Given the description of an element on the screen output the (x, y) to click on. 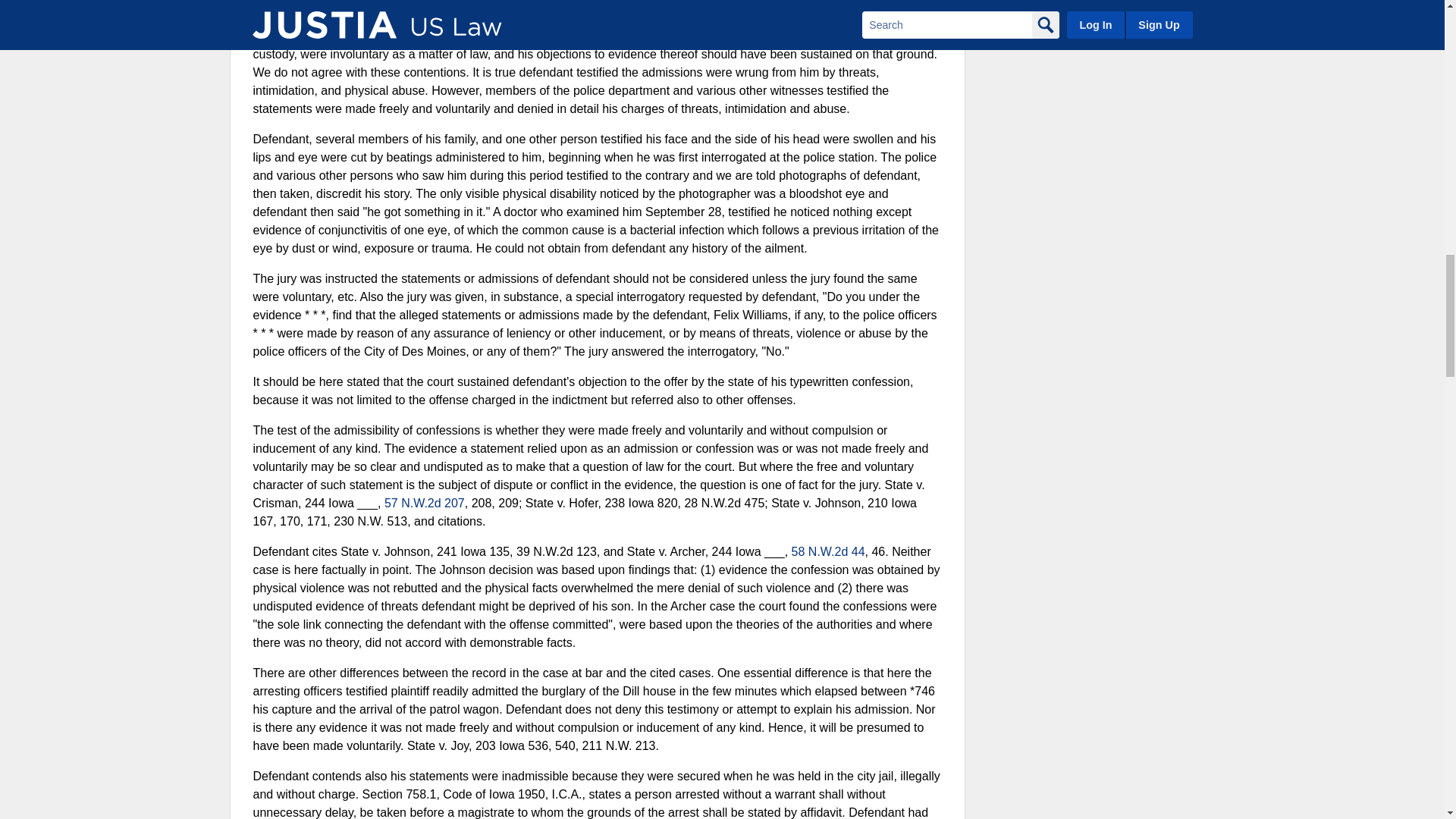
57 N.W.2d 207 (424, 502)
58 N.W.2d 44 (828, 551)
